Given the description of an element on the screen output the (x, y) to click on. 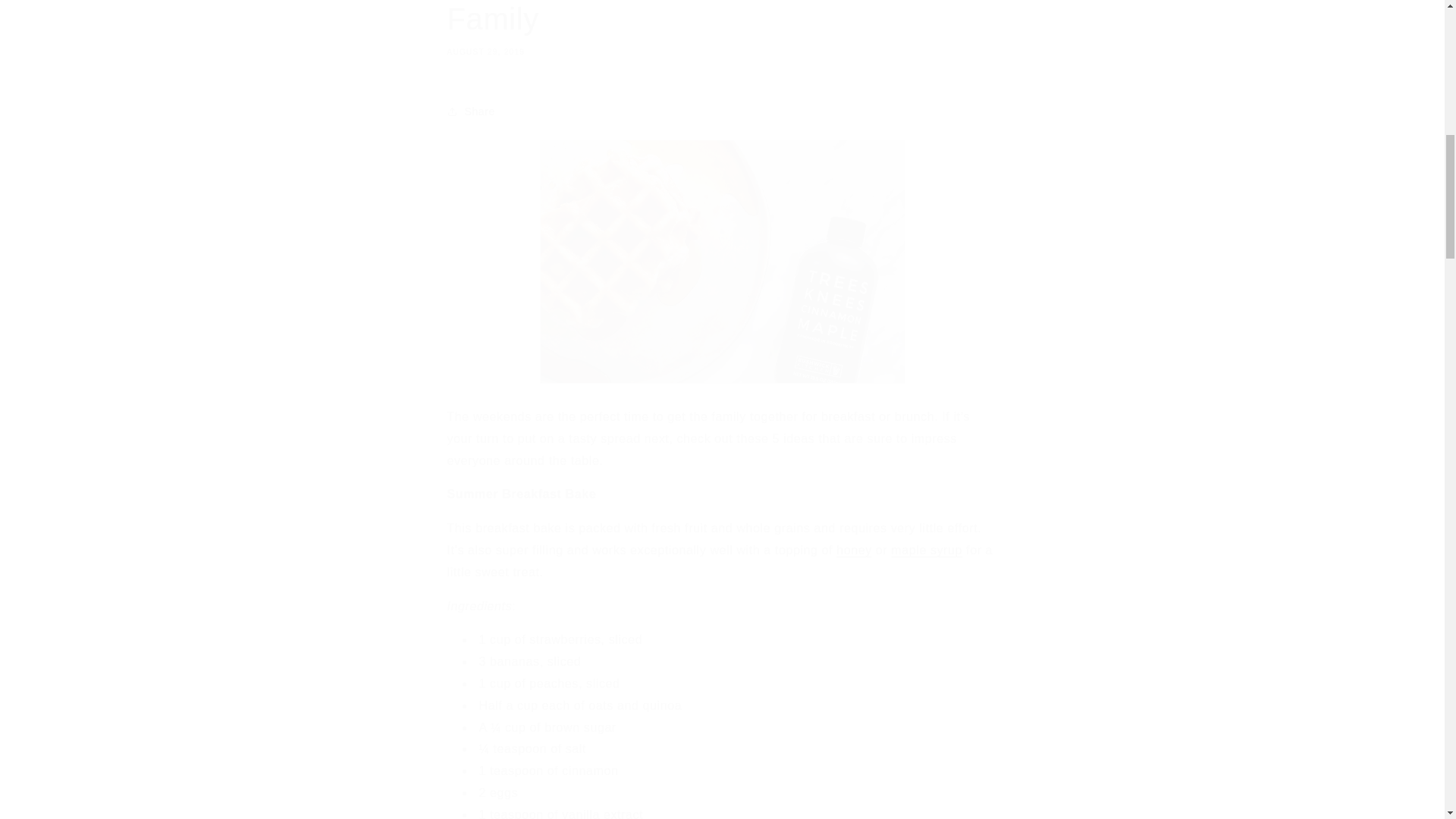
maple syrup (926, 549)
honey (853, 549)
Share (721, 28)
